Given the description of an element on the screen output the (x, y) to click on. 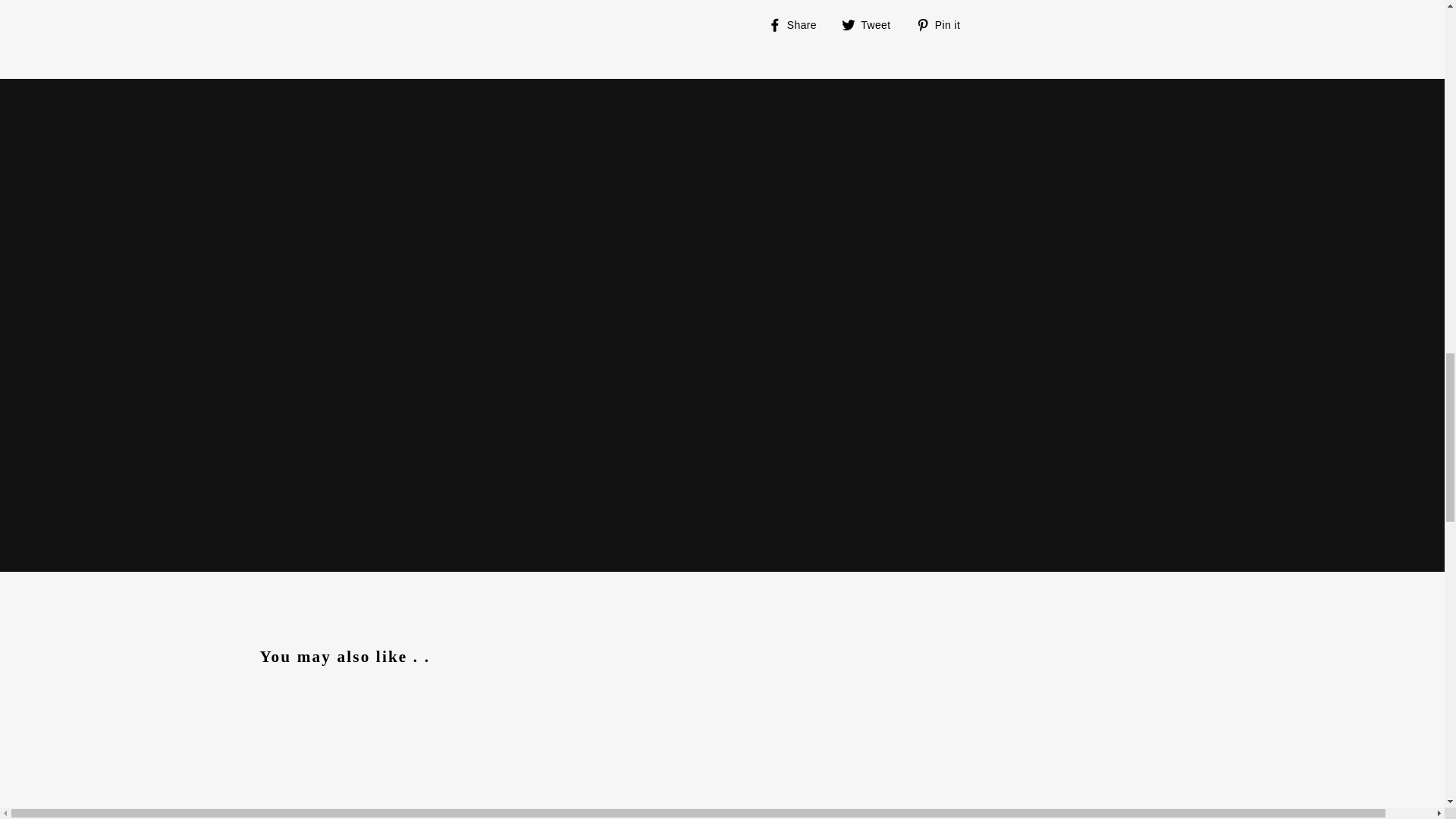
Pin on Pinterest (943, 24)
Share on Facebook (797, 24)
Tweet on Twitter (871, 24)
